Given the description of an element on the screen output the (x, y) to click on. 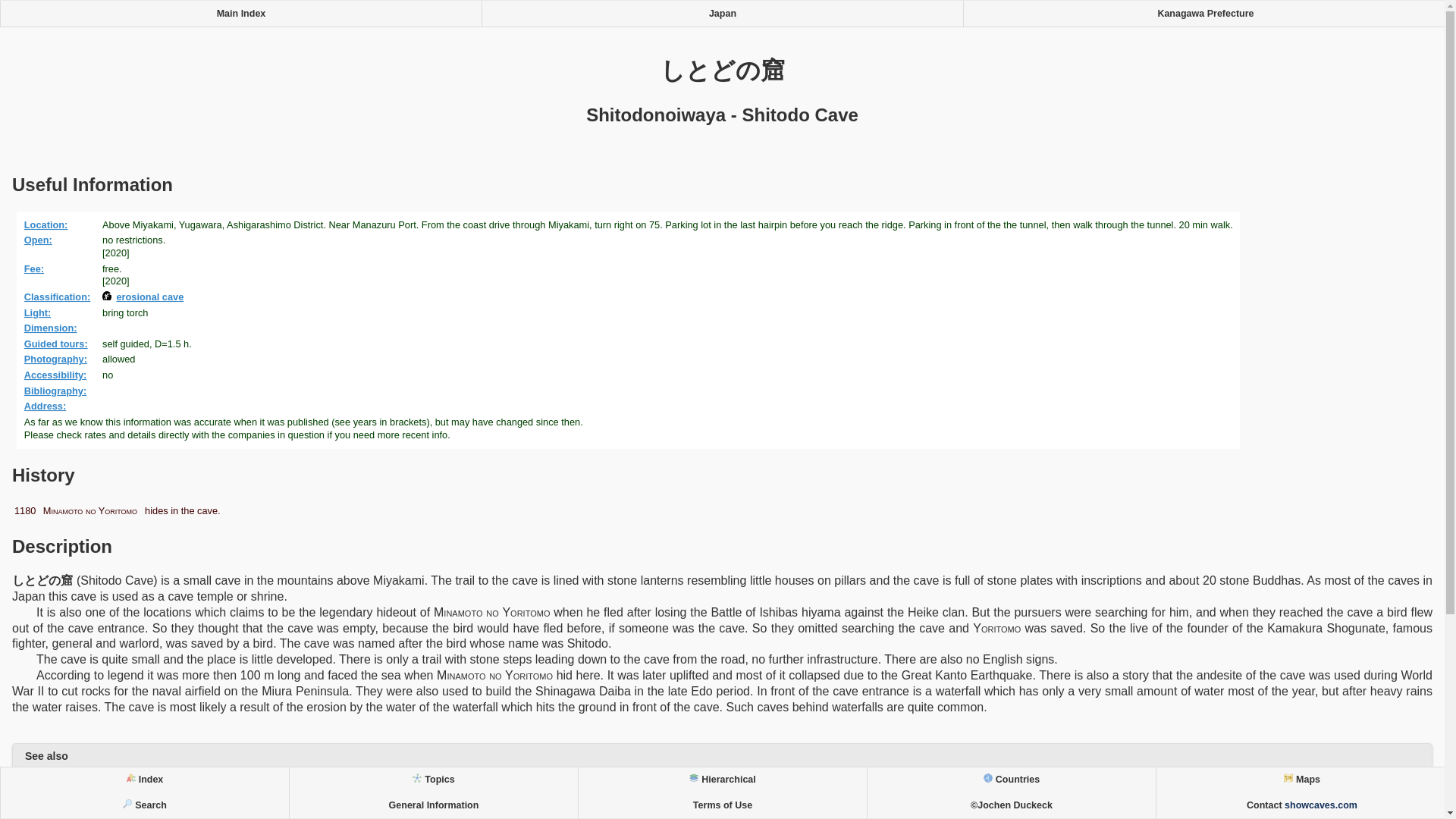
Guided tours: (58, 343)
Hierarchical (722, 780)
Location: (48, 224)
Topics (433, 780)
Light: (40, 311)
Search Google for "Shitodo" (721, 784)
Classification: (60, 296)
Dimension: (52, 327)
Bibliography: (57, 390)
Index (144, 780)
